Given the description of an element on the screen output the (x, y) to click on. 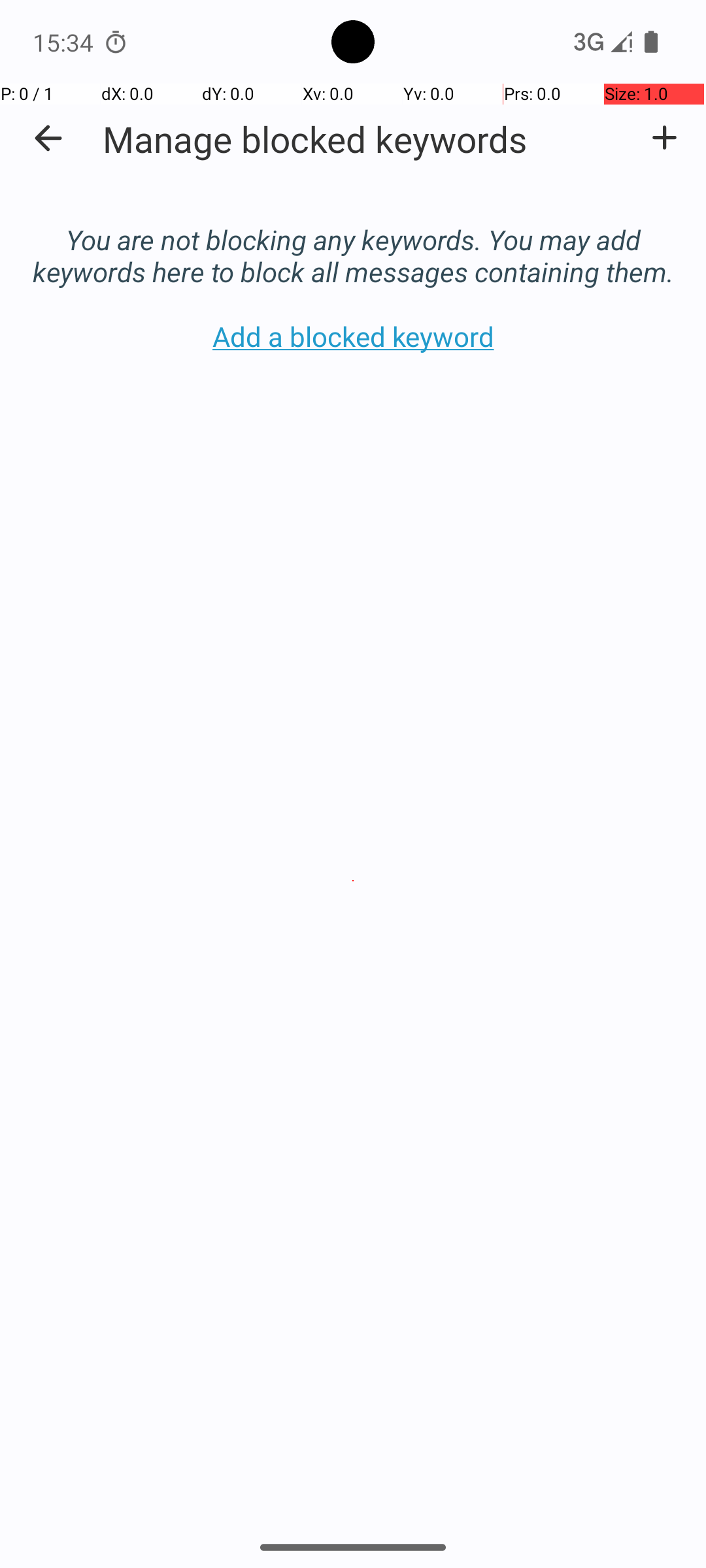
Add a blocked keyword Element type: android.widget.Button (664, 137)
You are not blocking any keywords. You may add keywords here to block all messages containing them. Element type: android.widget.TextView (353, 241)
